Given the description of an element on the screen output the (x, y) to click on. 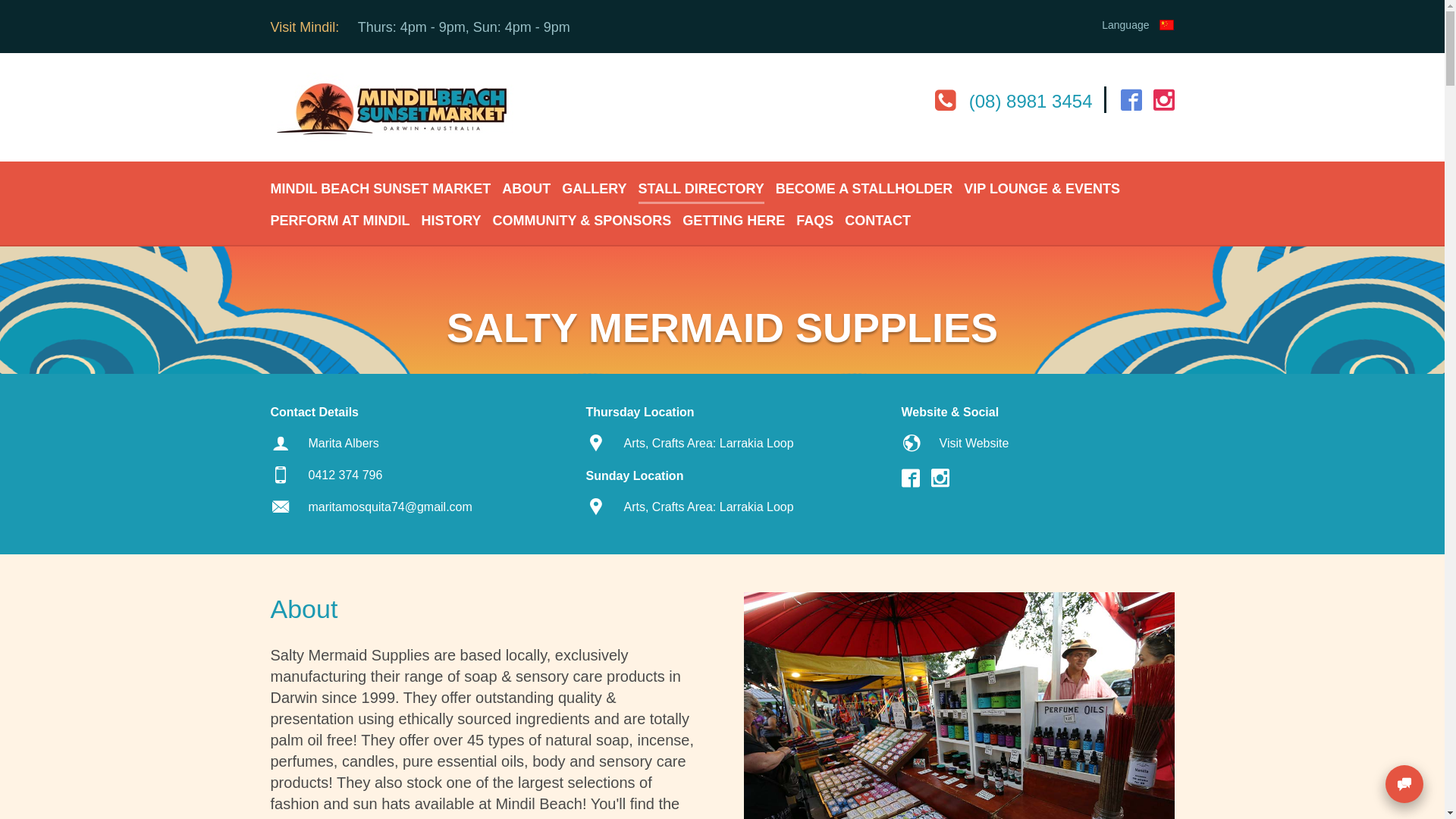
(08) 8981 3454 Element type: text (1013, 99)
STALL DIRECTORY Element type: text (701, 187)
FAQS Element type: text (814, 219)
COMMUNITY & SPONSORS Element type: text (581, 219)
ABOUT Element type: text (526, 187)
MINDIL BEACH SUNSET MARKET Element type: text (379, 187)
Follow us on Instagram Element type: hover (940, 479)
BECOME A STALLHOLDER Element type: text (863, 187)
GALLERY Element type: text (593, 187)
HISTORY Element type: text (450, 219)
maritamosquita74@gmail.com Element type: text (389, 506)
CONTACT Element type: text (877, 219)
Like us on Facebook Element type: hover (909, 479)
Chinese Element type: text (1165, 24)
VIP LOUNGE & EVENTS Element type: text (1041, 187)
0412 374 796 Element type: text (344, 474)
GETTING HERE Element type: text (733, 219)
PERFORM AT MINDIL Element type: text (339, 219)
Visit Website Element type: text (973, 442)
